Given the description of an element on the screen output the (x, y) to click on. 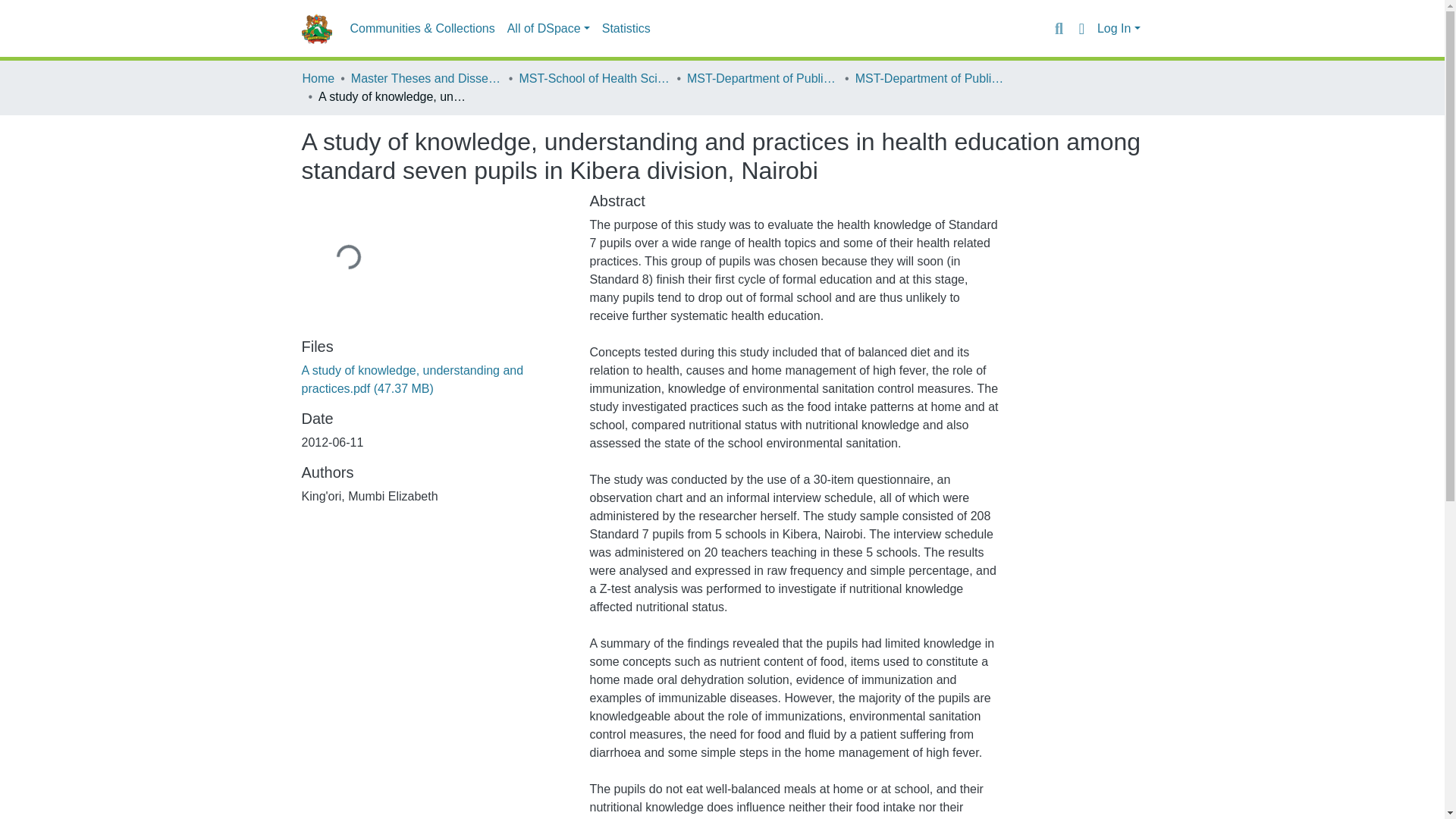
Language switch (1081, 28)
Statistics (625, 28)
MST-Department of Public Health (762, 78)
MST-School of Health Sciences (593, 78)
MST-Department of Public Health (931, 78)
Home (317, 78)
Search (1058, 28)
All of DSpace (547, 28)
Statistics (625, 28)
Log In (1118, 28)
